Given the description of an element on the screen output the (x, y) to click on. 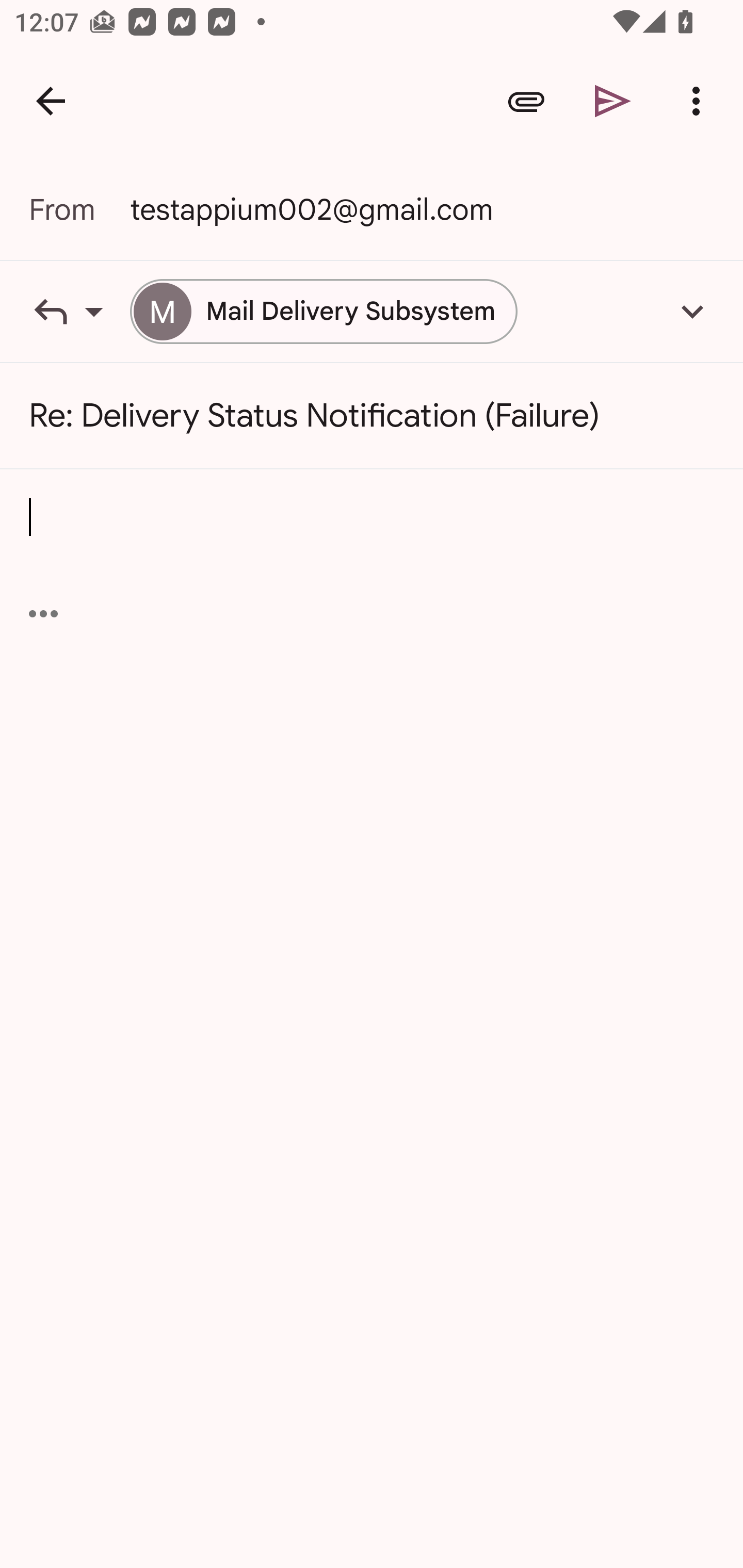
Navigate up (50, 101)
Attach file (525, 101)
Send (612, 101)
More options (699, 101)
From (79, 209)
Reply (79, 311)
Add Cc/Bcc (692, 311)
Re: Delivery Status Notification (Failure) (371, 415)
Include quoted text (43, 613)
